Given the description of an element on the screen output the (x, y) to click on. 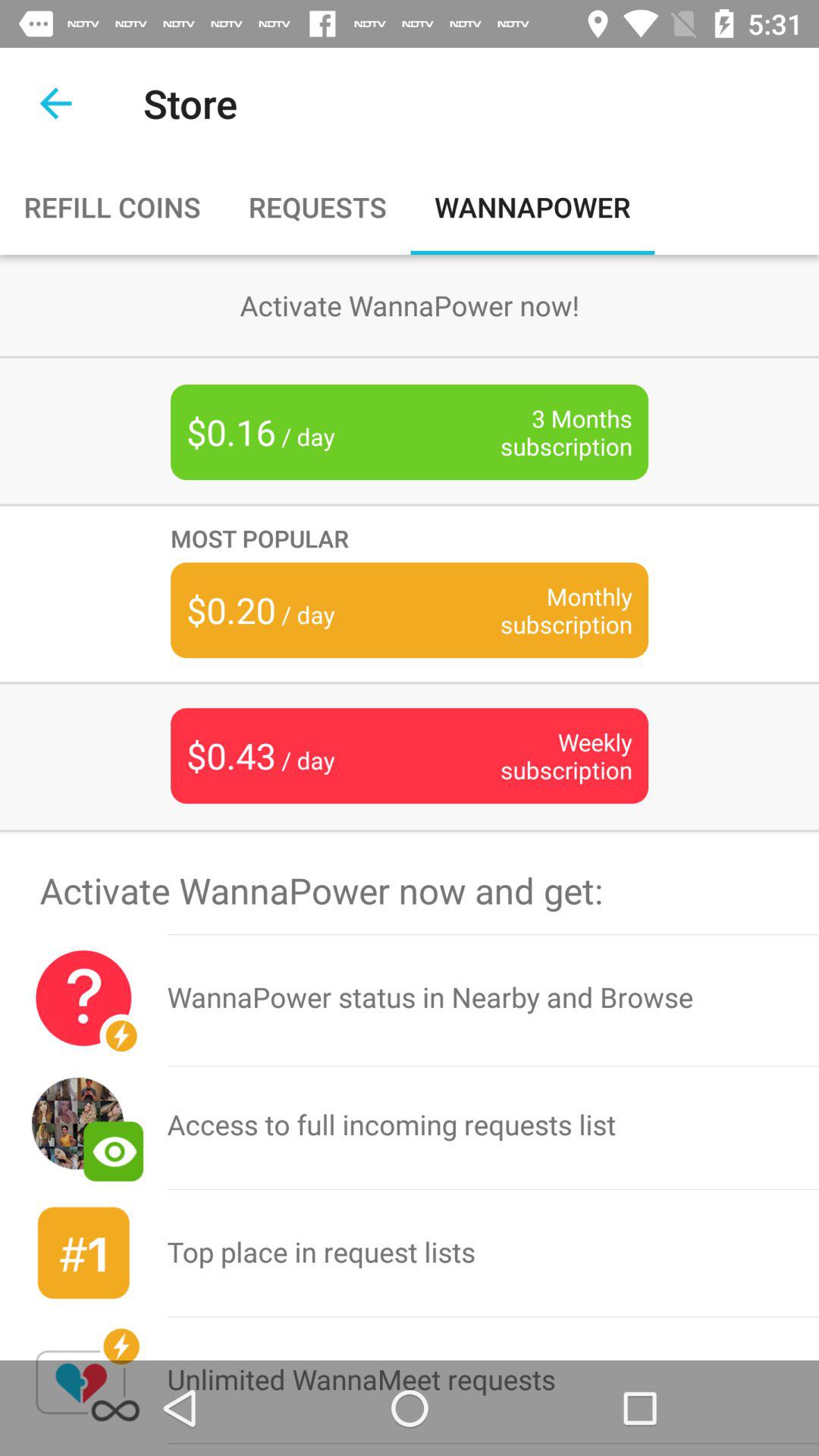
turn off the icon next to the top place in item (83, 1380)
